Given the description of an element on the screen output the (x, y) to click on. 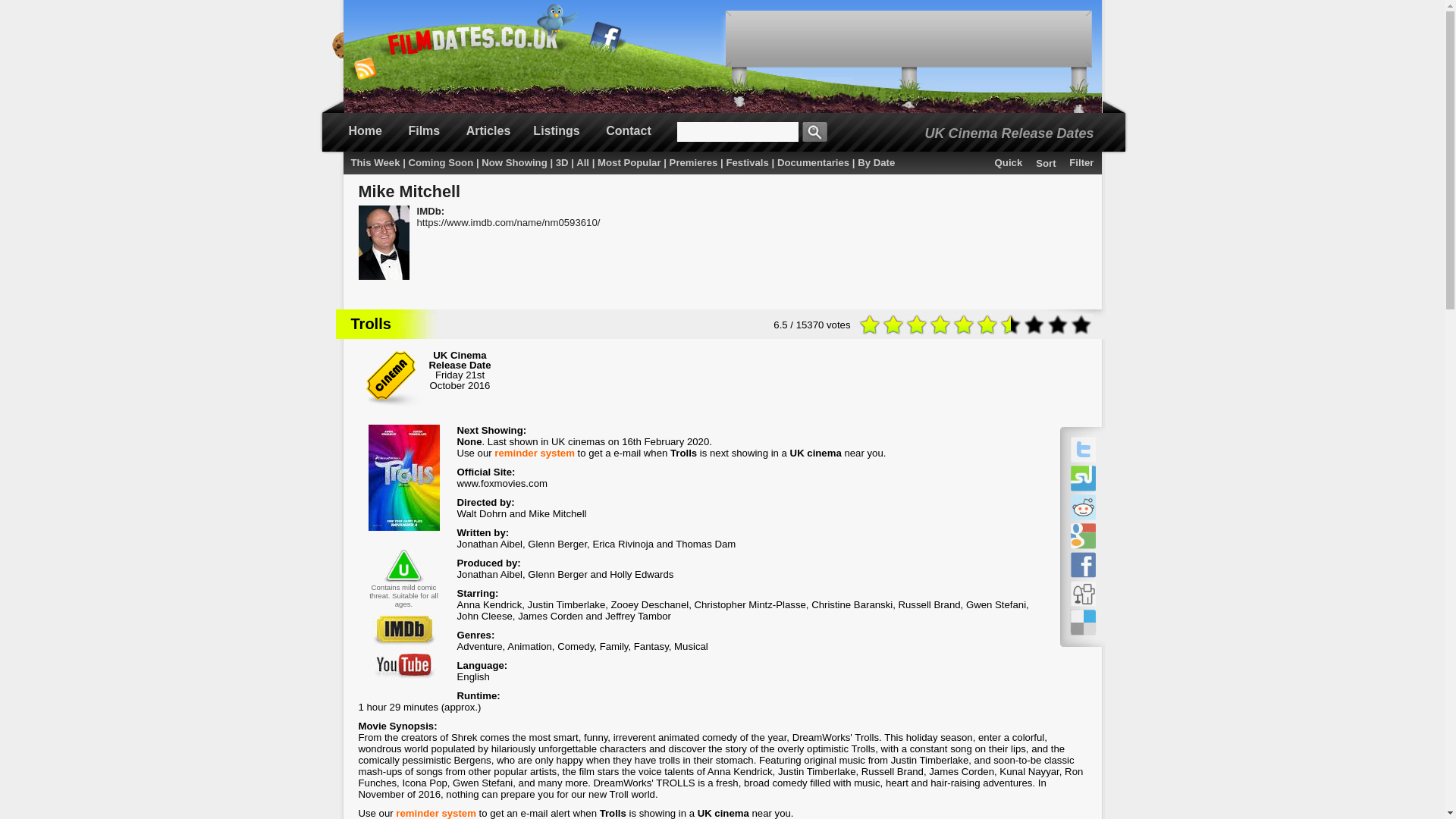
Premieres (693, 162)
Trolls (370, 323)
Share Trolls on Reddit (1082, 506)
Walt Dohrn (481, 513)
Facebook (606, 39)
reminder system (535, 452)
By Date (876, 162)
Share Trolls on Delicious (1082, 622)
This Week (374, 162)
3D (562, 162)
Jonathan Aibel (489, 543)
Filter (1080, 162)
www.foxmovies.com (502, 482)
According to our cinema listings database (469, 441)
Jonathan Aibel (489, 573)
